Given the description of an element on the screen output the (x, y) to click on. 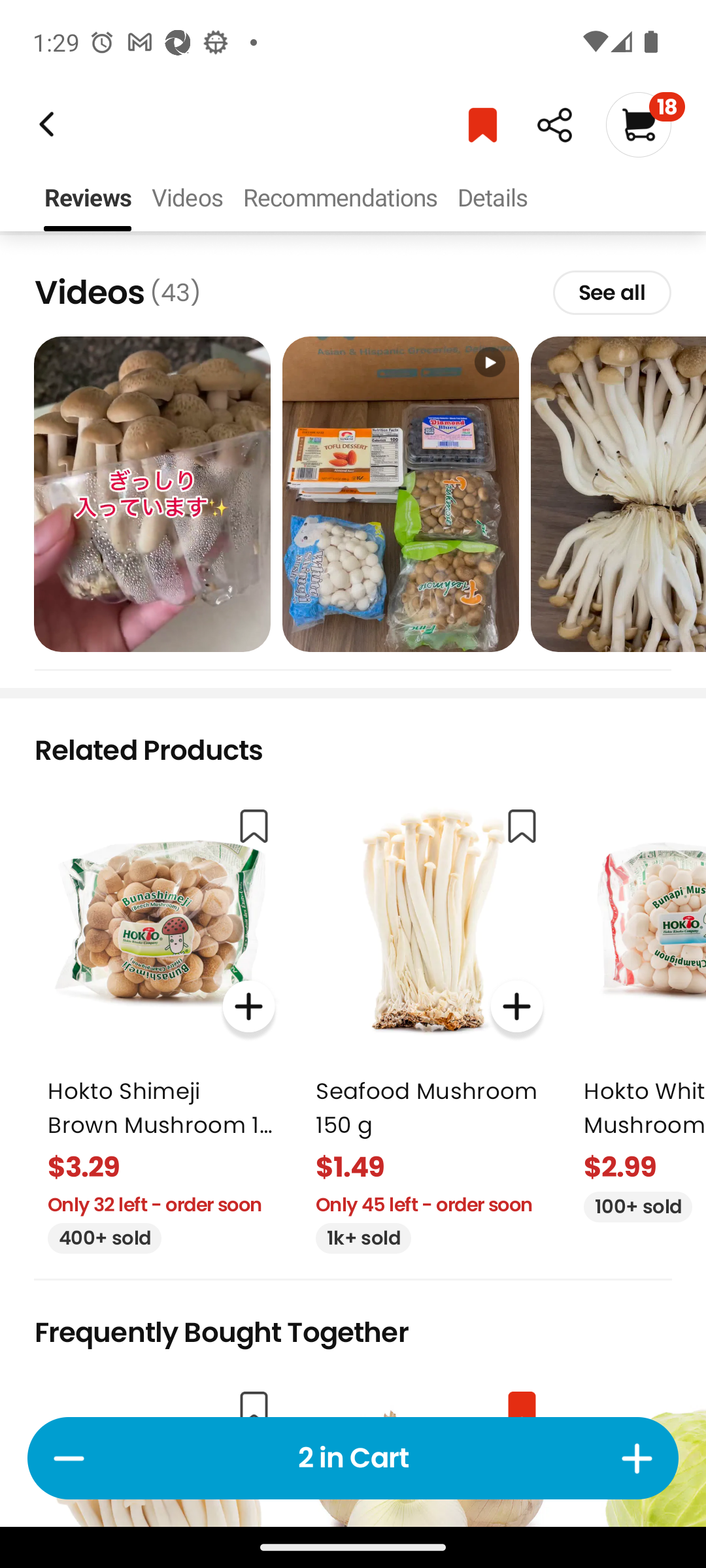
18 (644, 124)
Weee! (45, 124)
Weee! (554, 125)
Reviews (87, 199)
Videos (186, 199)
Recommendations (339, 199)
Details (491, 199)
See all (611, 292)
2 in Cart (352, 1458)
